Given the description of an element on the screen output the (x, y) to click on. 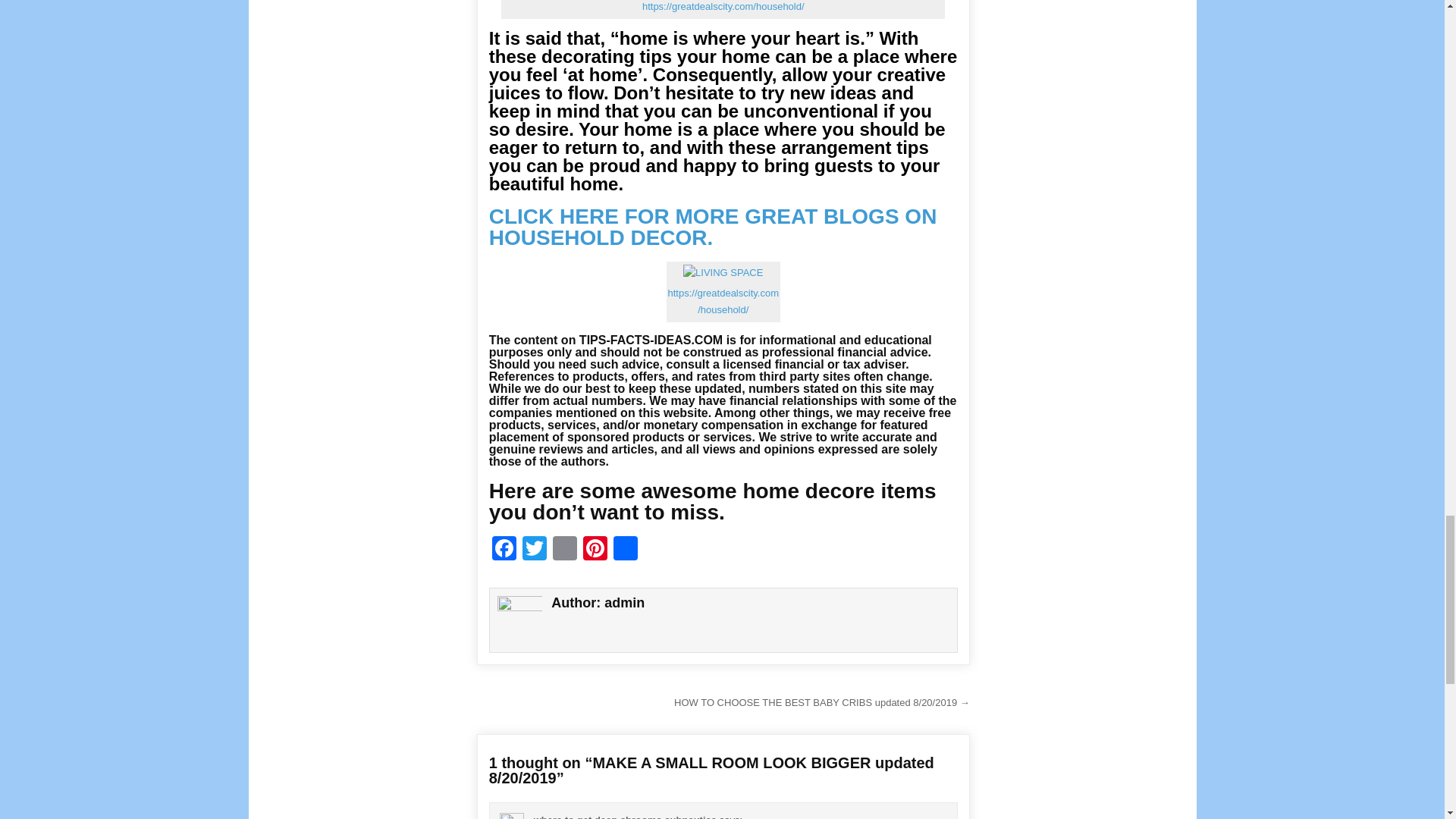
Pinterest (594, 550)
Email (564, 550)
Twitter (534, 550)
Facebook (504, 550)
